Given the description of an element on the screen output the (x, y) to click on. 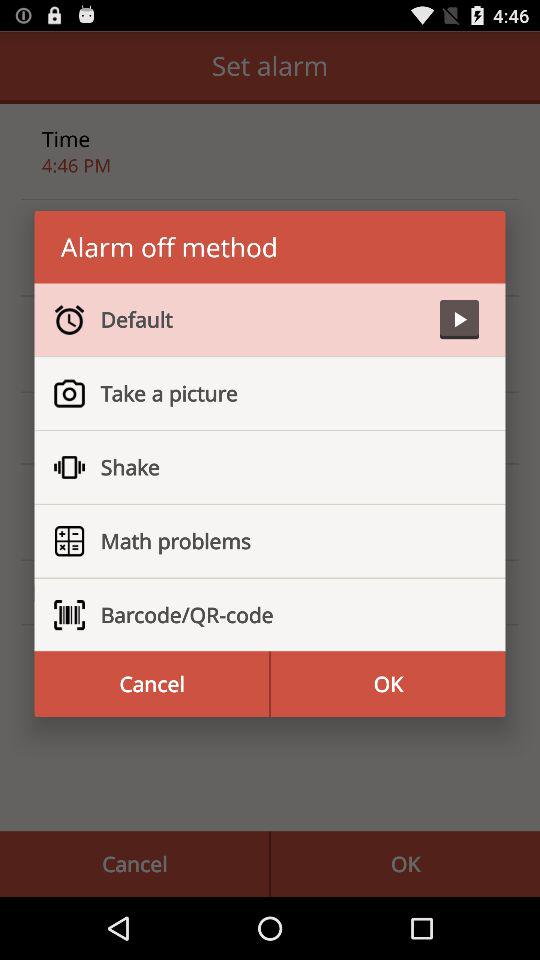
swipe to barcode/qr-code app (281, 615)
